Given the description of an element on the screen output the (x, y) to click on. 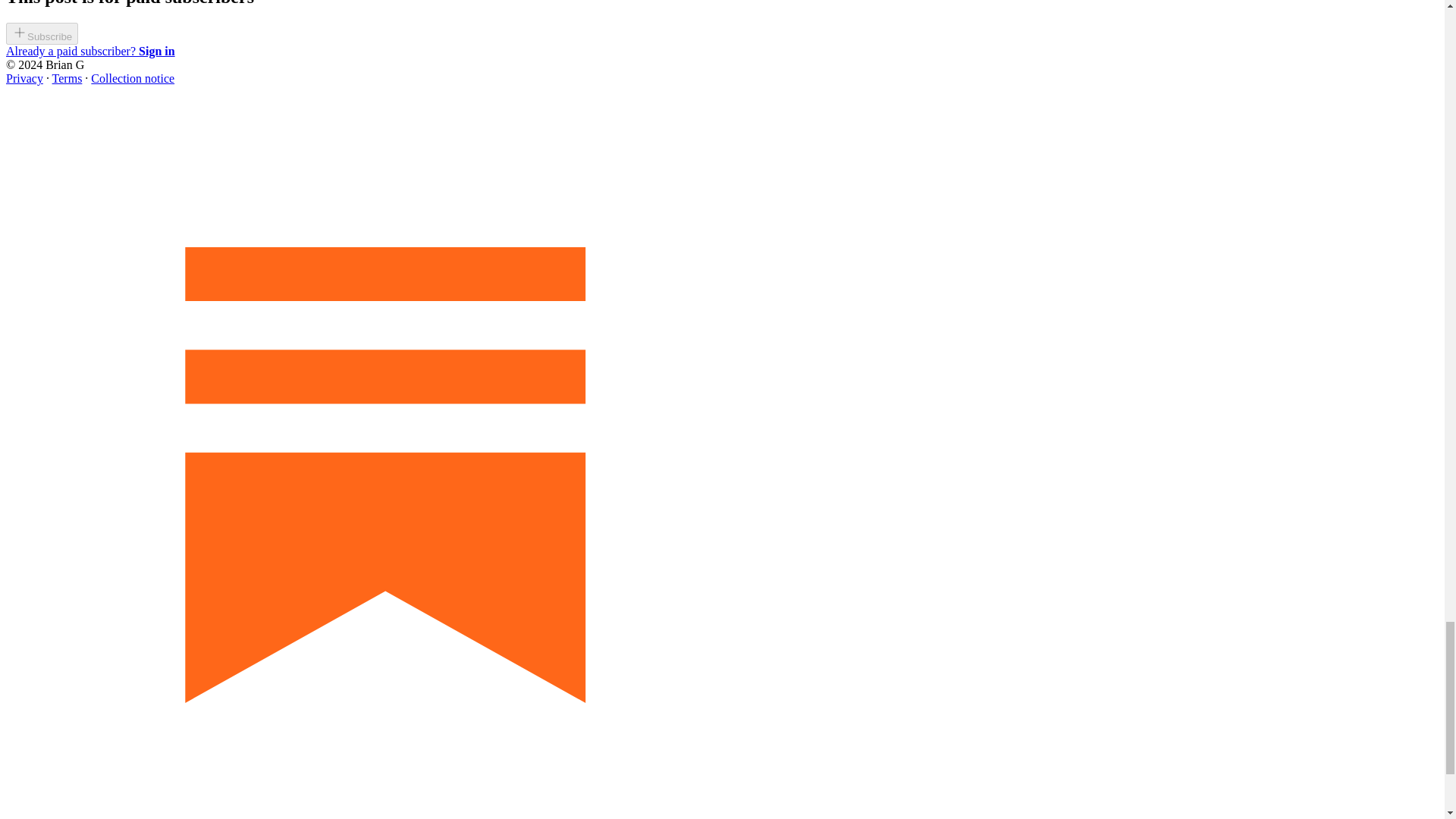
Terms (67, 78)
Privacy (24, 78)
Subscribe (41, 35)
Collection notice (132, 78)
Subscribe (41, 33)
Already a paid subscriber? Sign in (89, 51)
